Given the description of an element on the screen output the (x, y) to click on. 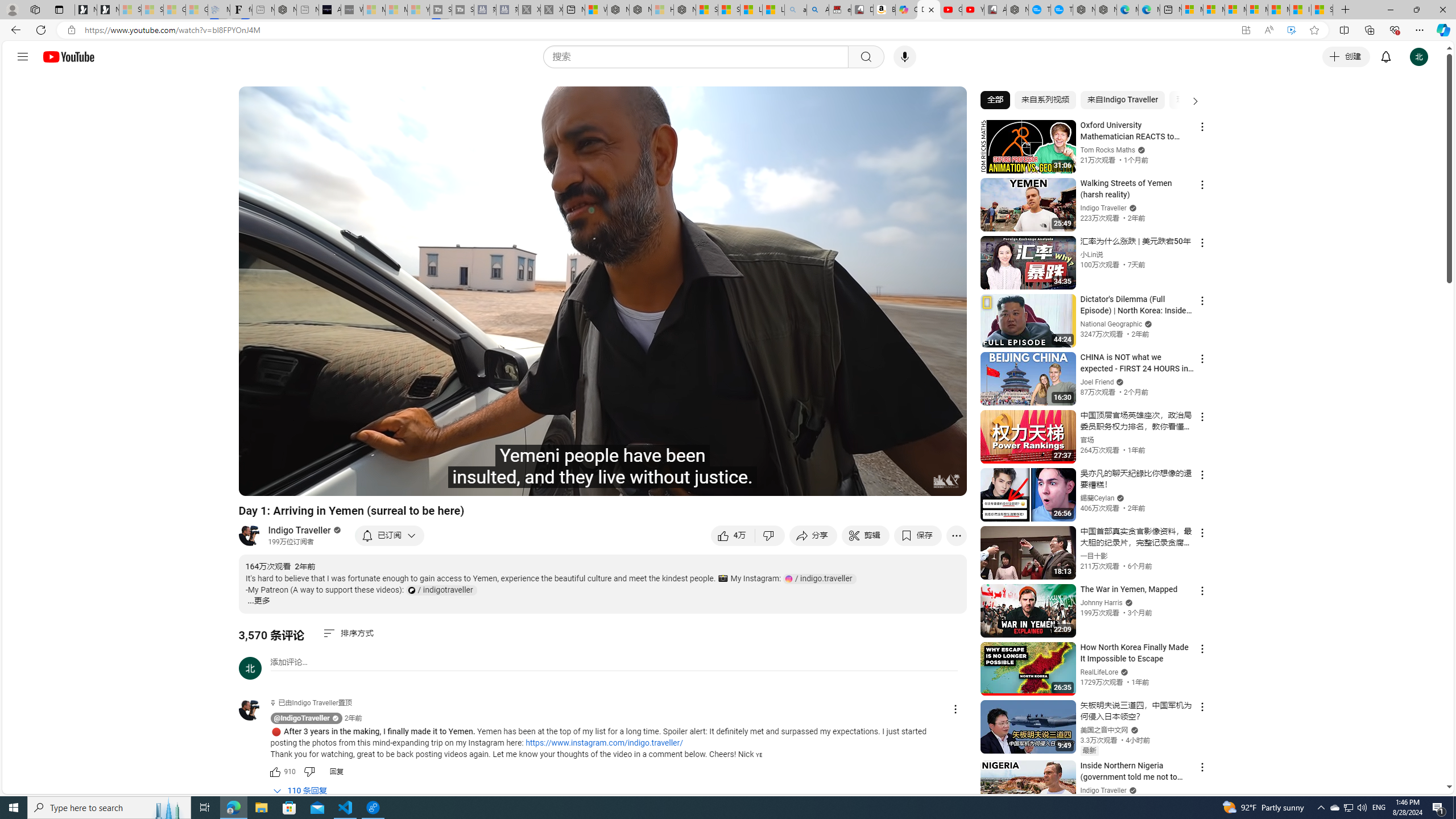
@IndigoTraveller (254, 709)
Streaming Coverage | T3 - Sleeping (441, 9)
